Given the description of an element on the screen output the (x, y) to click on. 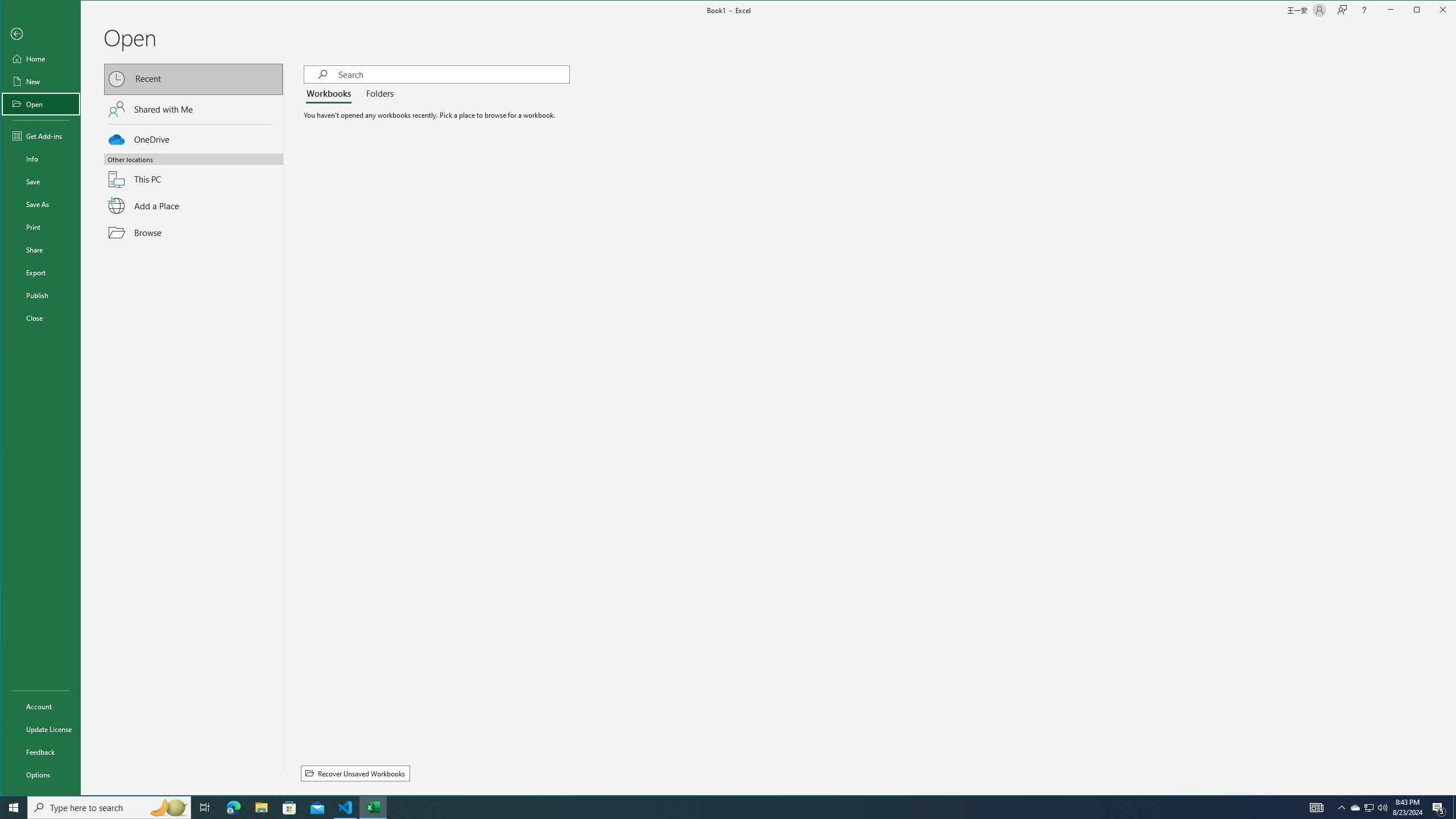
This PC (193, 172)
Maximize (1432, 11)
Search highlights icon opens search home window (167, 807)
Add a Place (193, 205)
Workbooks (331, 94)
Start (13, 807)
Feedback (40, 751)
Get Add-ins (40, 135)
Shared with Me (193, 109)
